Given the description of an element on the screen output the (x, y) to click on. 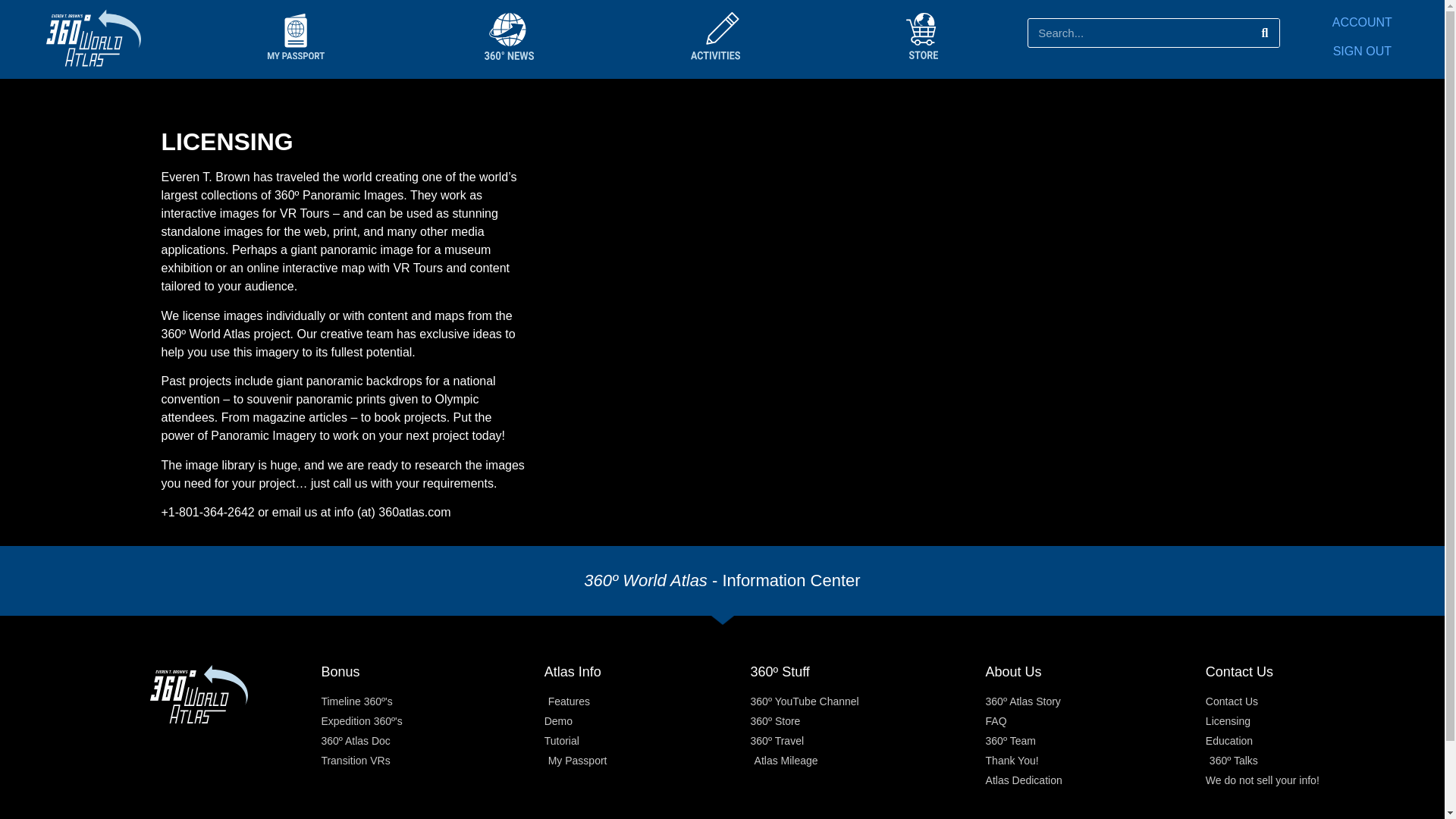
Education (1305, 741)
Thank You! (1095, 760)
FAQ (1095, 721)
We do not sell your info! (1305, 780)
Contact Us (1305, 701)
Demo (647, 721)
360WorldAtlasLogo (93, 39)
SIGN OUT (1362, 51)
ACCOUNT (1361, 21)
Licensing (1305, 721)
